Given the description of an element on the screen output the (x, y) to click on. 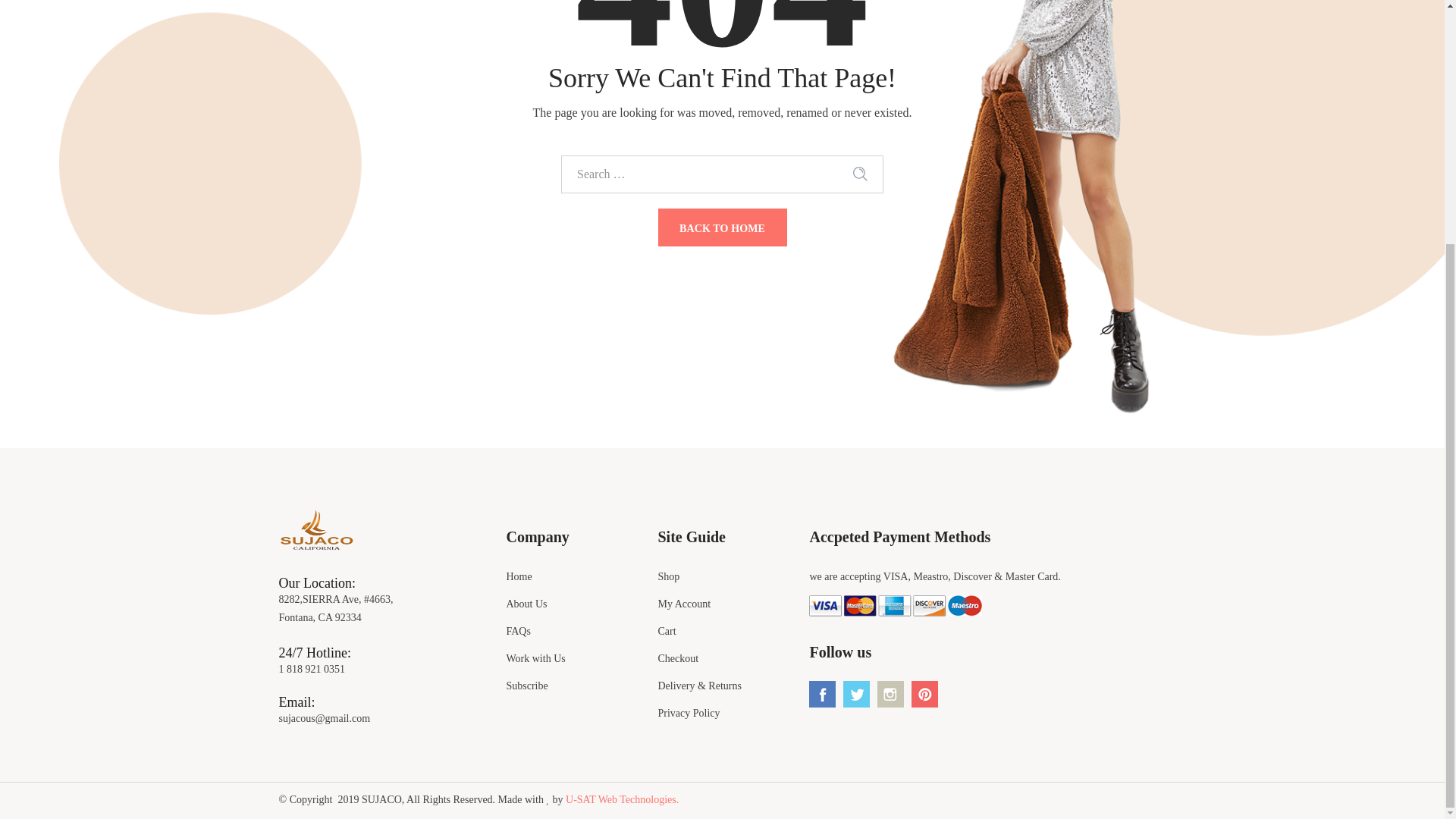
Twitter (856, 693)
Pinterest (926, 686)
Pinterest (924, 693)
Facebook (822, 693)
Twitter (858, 686)
Instagram (892, 686)
Instagram (890, 693)
Facebook (824, 686)
